Given the description of an element on the screen output the (x, y) to click on. 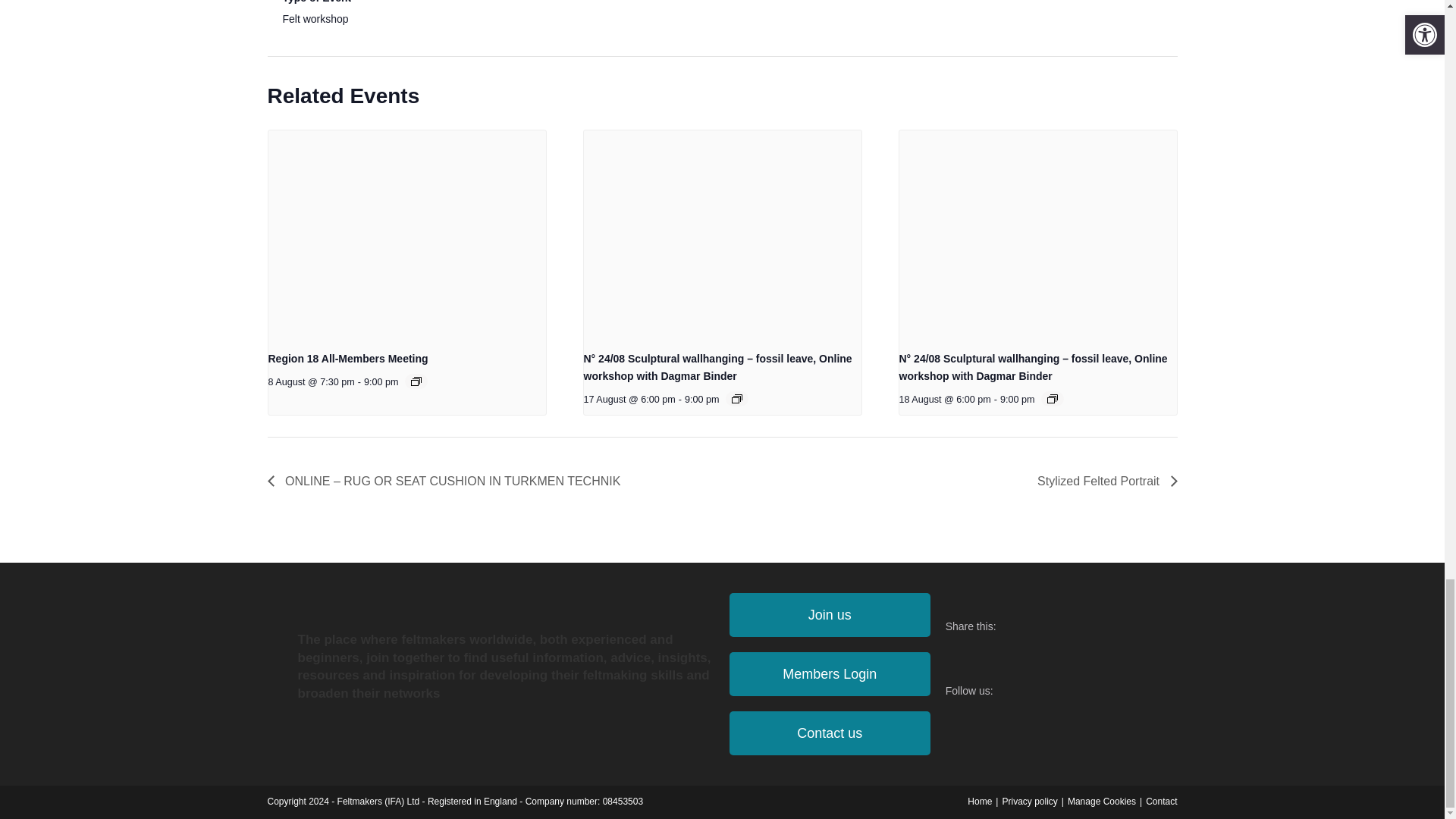
Event Series (1052, 398)
Event Series (737, 398)
Event Series (416, 380)
